Given the description of an element on the screen output the (x, y) to click on. 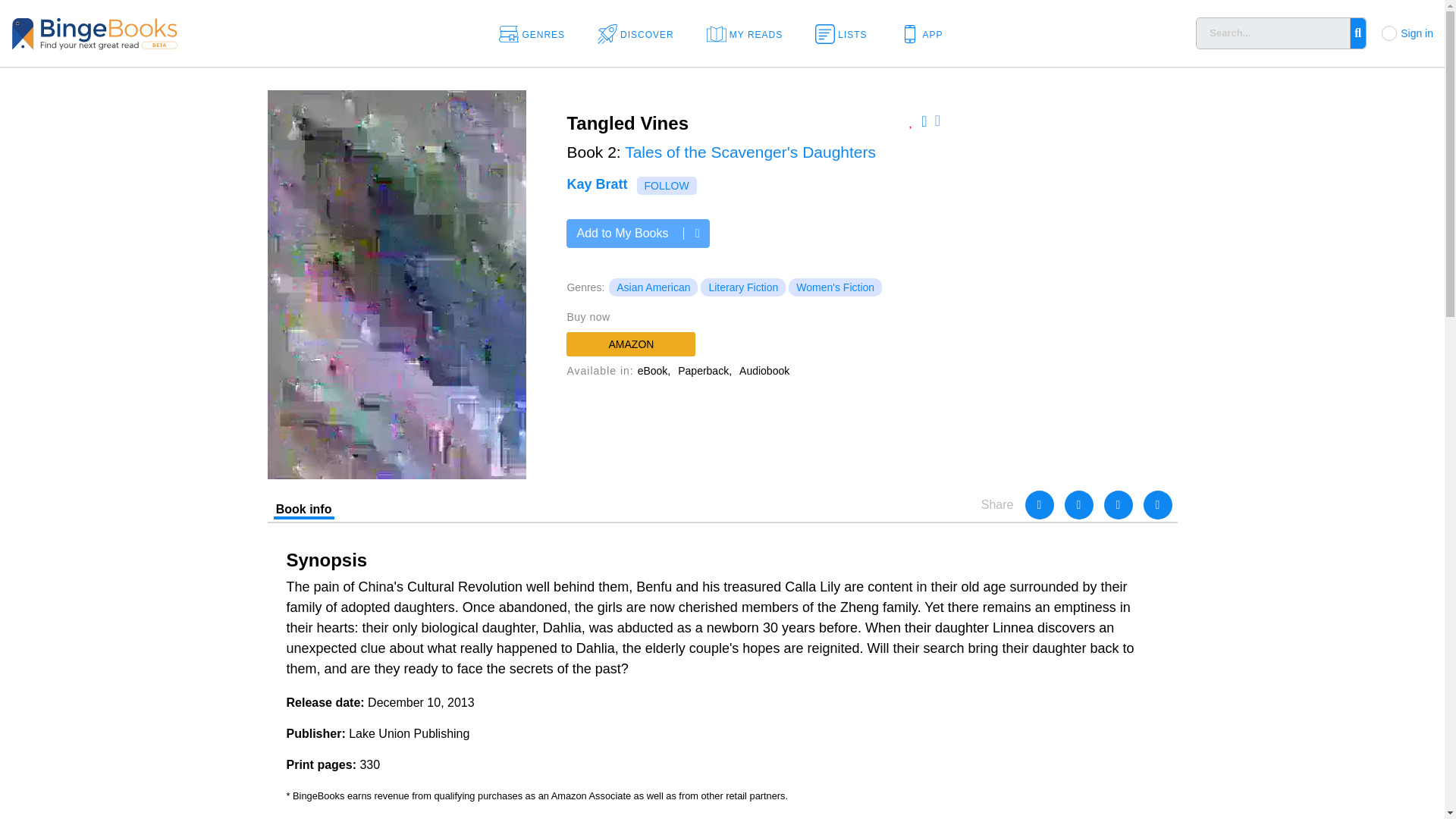
DISCOVER (640, 33)
Kay Bratt (596, 183)
LISTS (845, 33)
Sign in (1416, 33)
Find your next great read (144, 32)
Genres (537, 33)
Tales of the Scavenger's Daughters (750, 151)
FOLLOW (667, 185)
My reads (749, 33)
Asian American (652, 287)
GENRES (537, 33)
Discover (640, 33)
Add to My Books (637, 233)
Women's Fiction (835, 287)
Literary Fiction (743, 287)
